Given the description of an element on the screen output the (x, y) to click on. 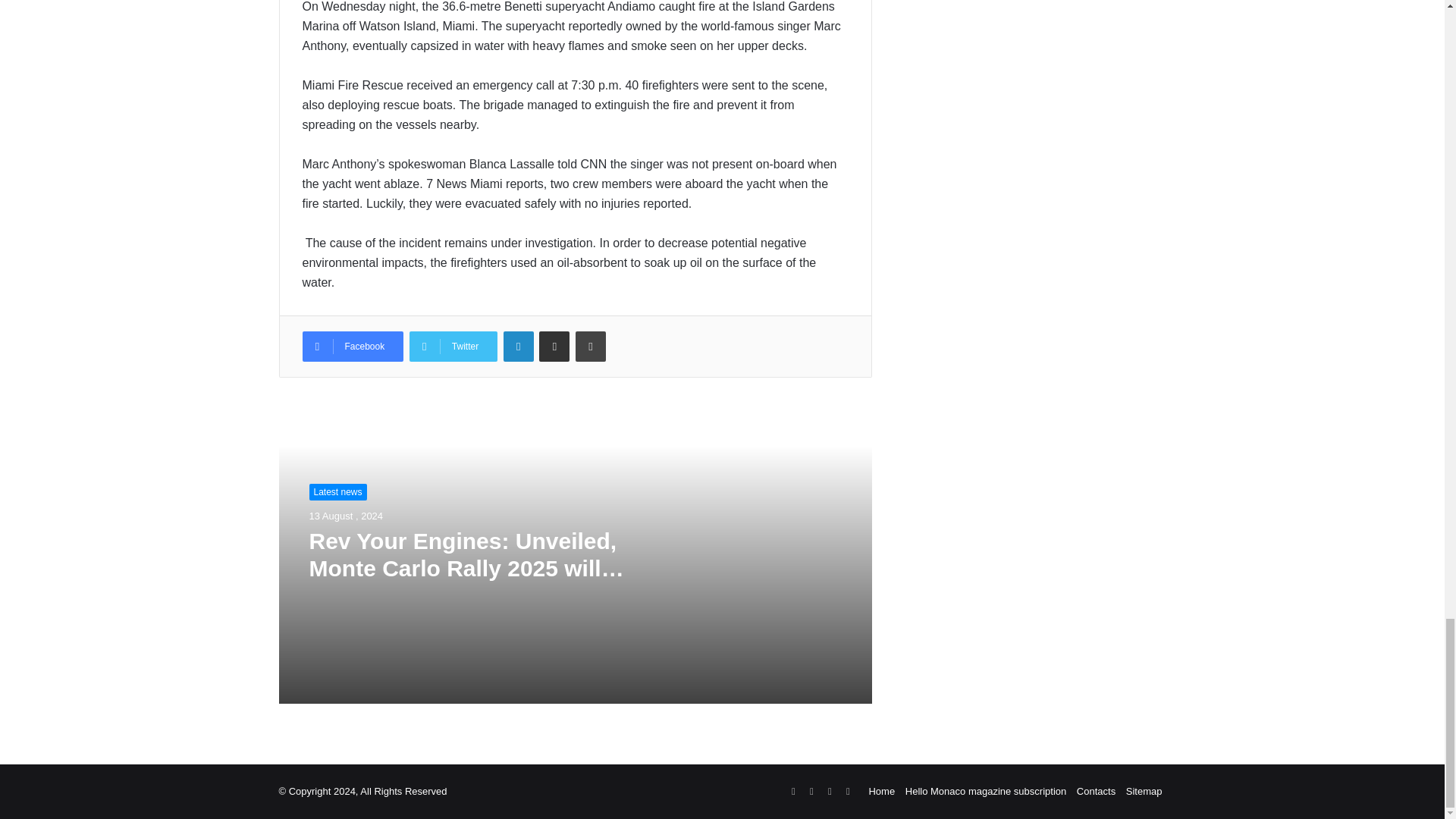
Twitter (453, 346)
LinkedIn (518, 346)
Print (590, 346)
Facebook (352, 346)
Share via Email (553, 346)
